Given the description of an element on the screen output the (x, y) to click on. 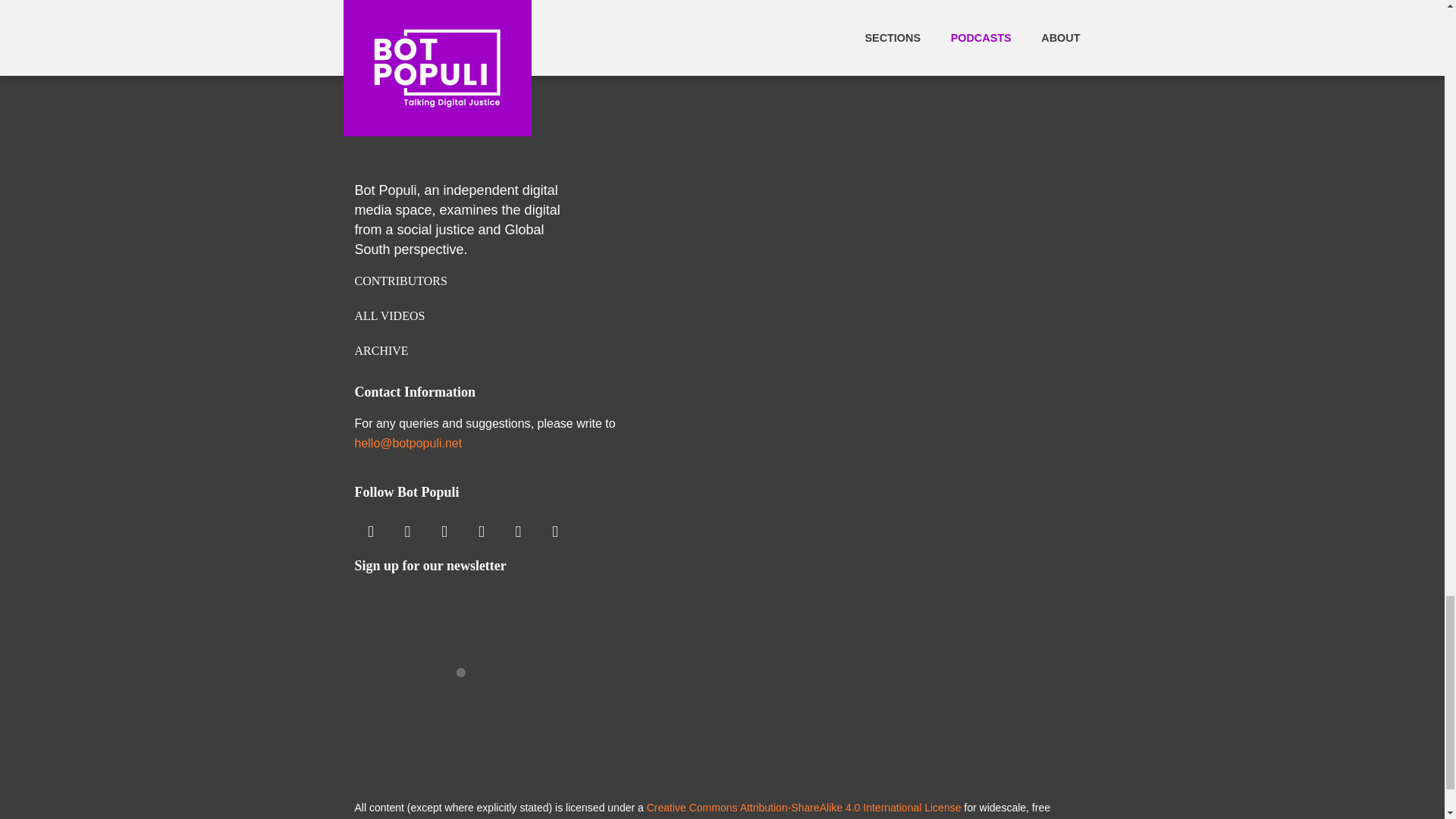
Bot Populi on Instagram (371, 531)
